Given the description of an element on the screen output the (x, y) to click on. 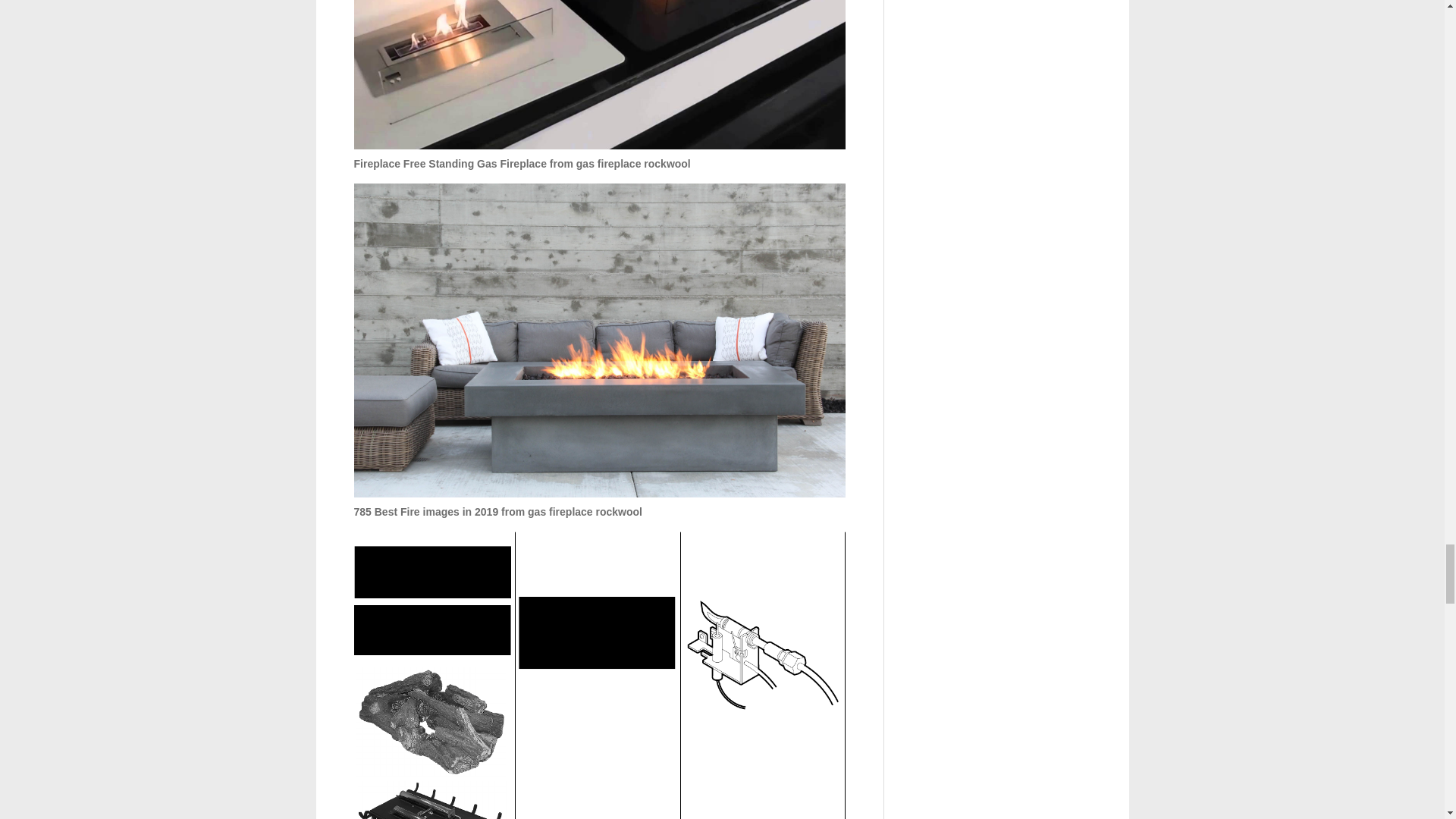
Fireplace Free Standing Gas Fireplace (598, 74)
